Given the description of an element on the screen output the (x, y) to click on. 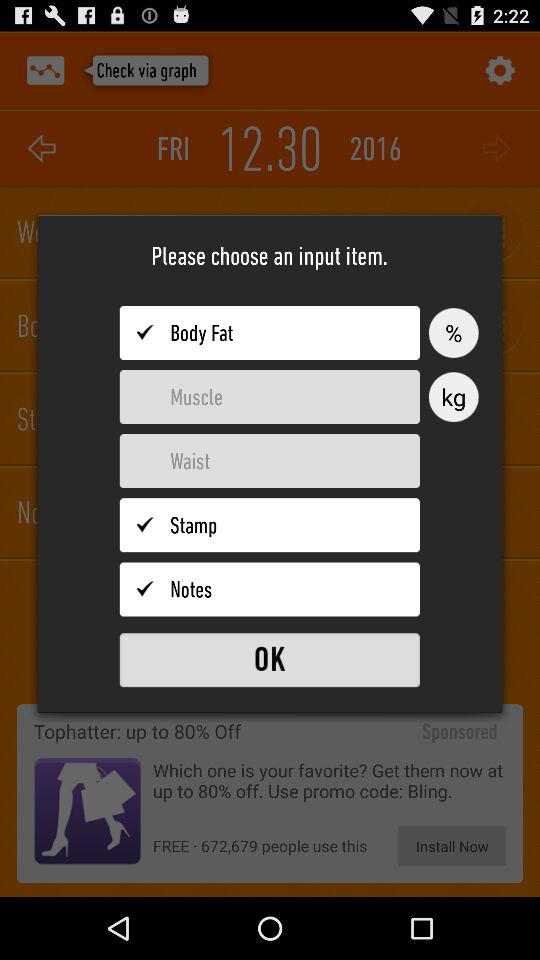
select body fat percentage (269, 333)
